Given the description of an element on the screen output the (x, y) to click on. 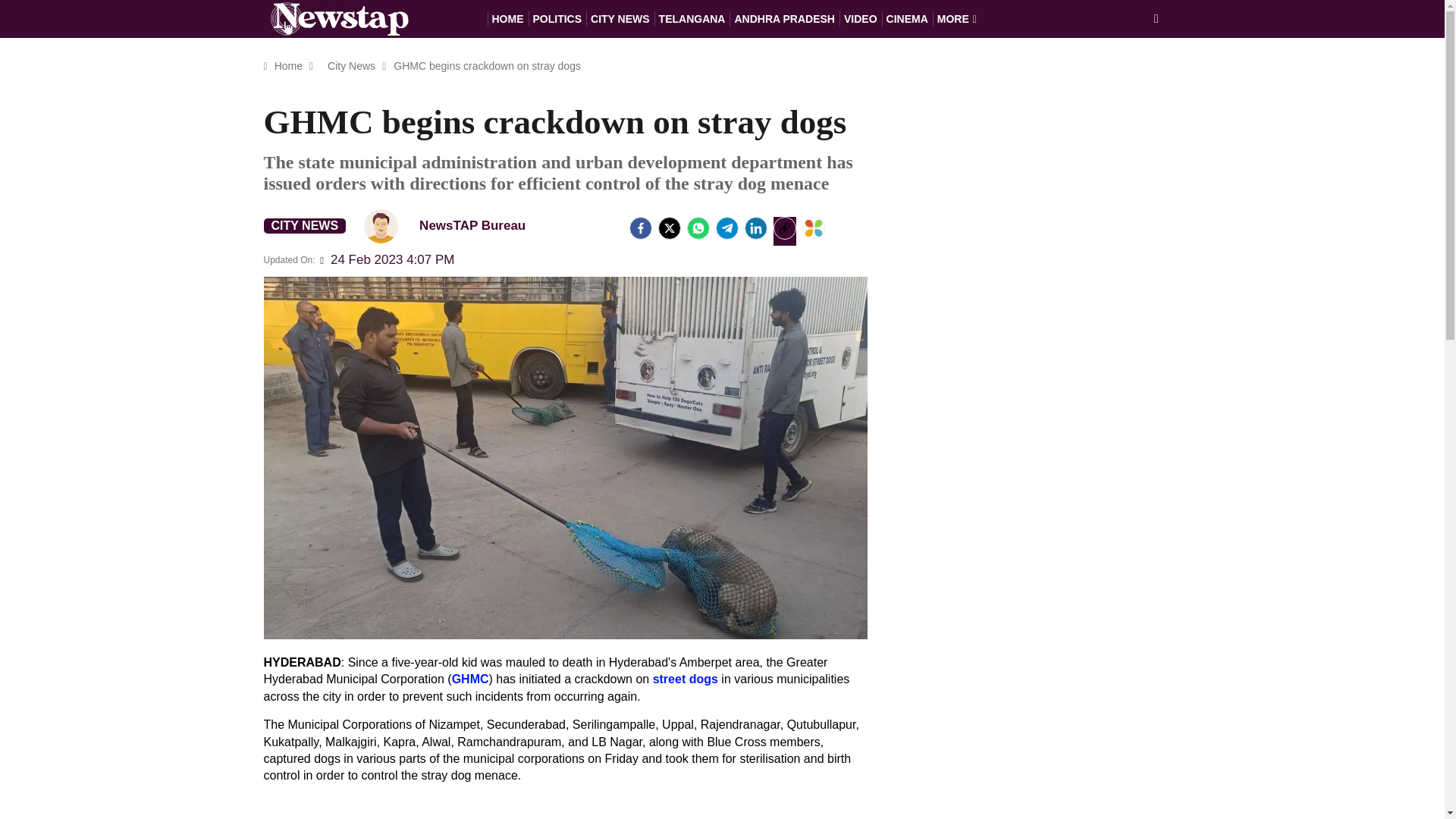
City News (350, 65)
CITY NEWS (304, 225)
POLITICS (556, 18)
ANDHRA PRADESH (784, 18)
VIDEO (861, 18)
MORE (957, 18)
CITY NEWS (619, 18)
CINEMA (907, 18)
LinkedIn (755, 228)
HOME (506, 18)
NewsTAP Bureau (380, 226)
Home (287, 65)
TELANGANA (691, 18)
NewsTAP Bureau (451, 225)
